Given the description of an element on the screen output the (x, y) to click on. 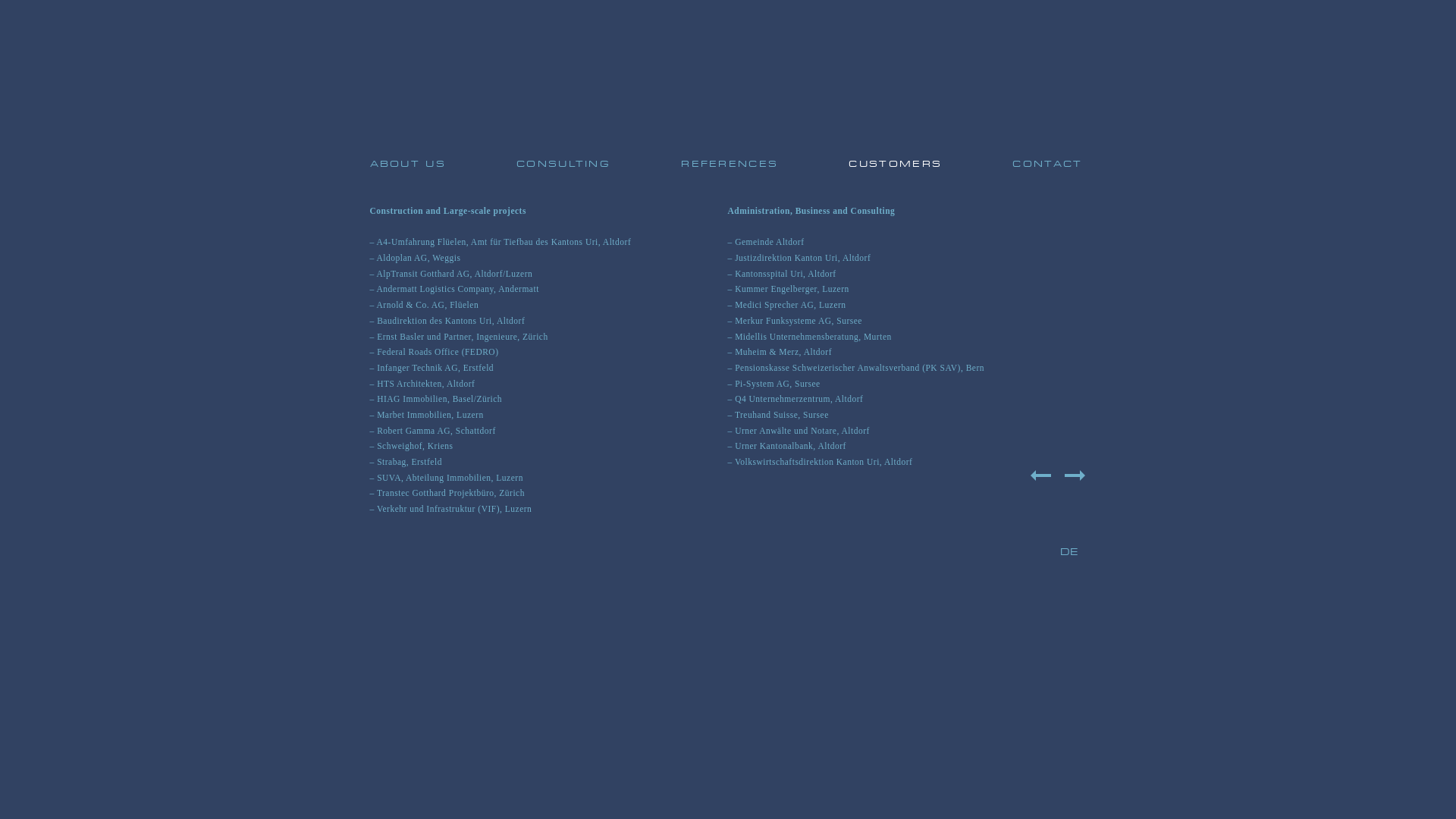
REFERENCES Element type: text (729, 164)
DE Element type: text (1068, 552)
CUSTOMERS Element type: text (894, 164)
ABOUT US Element type: text (407, 164)
CONSULTING Element type: text (563, 164)
CONTACT Element type: text (1047, 164)
  Element type: text (1043, 484)
